Given the description of an element on the screen output the (x, y) to click on. 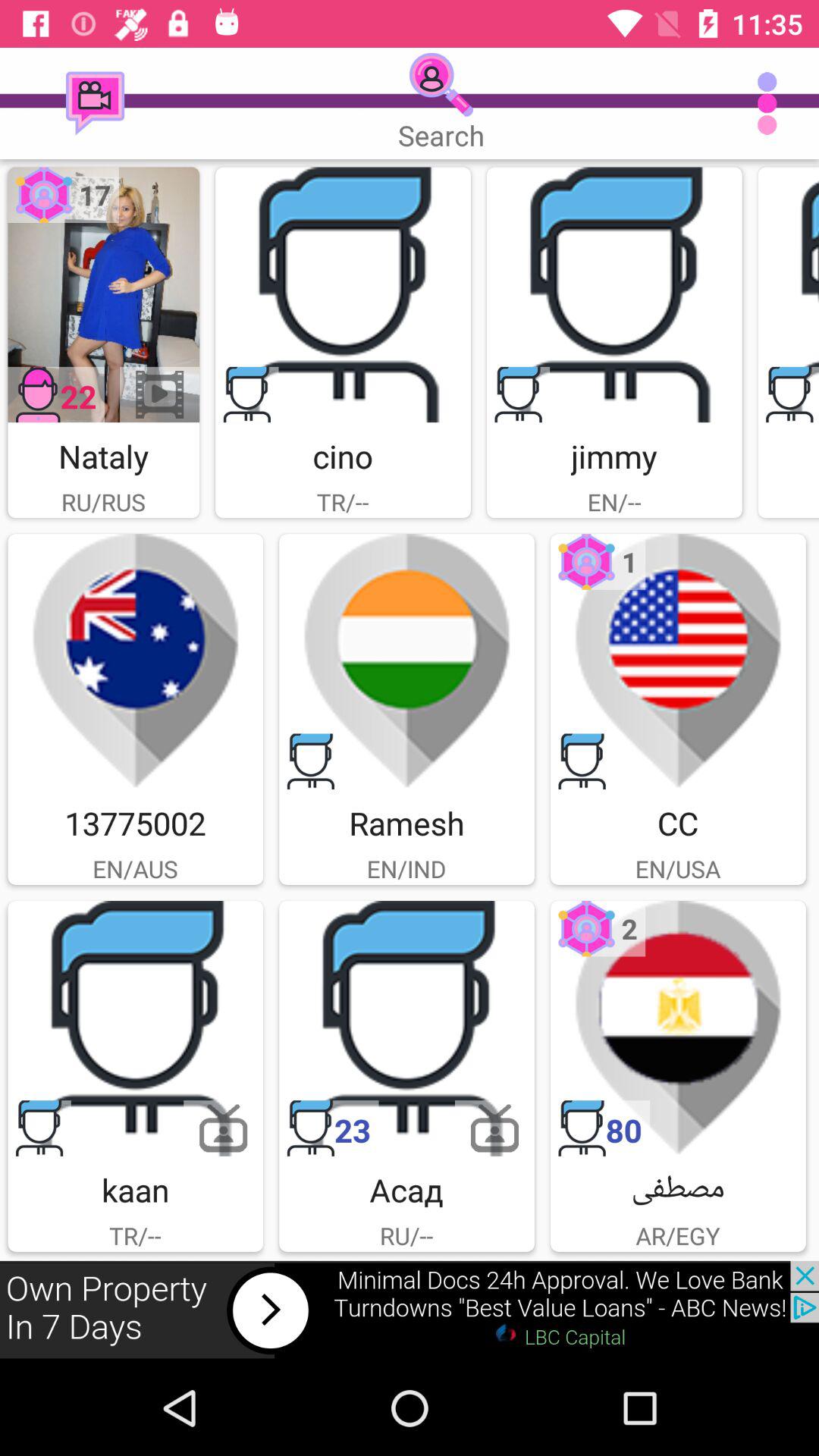
slogan (788, 294)
